Given the description of an element on the screen output the (x, y) to click on. 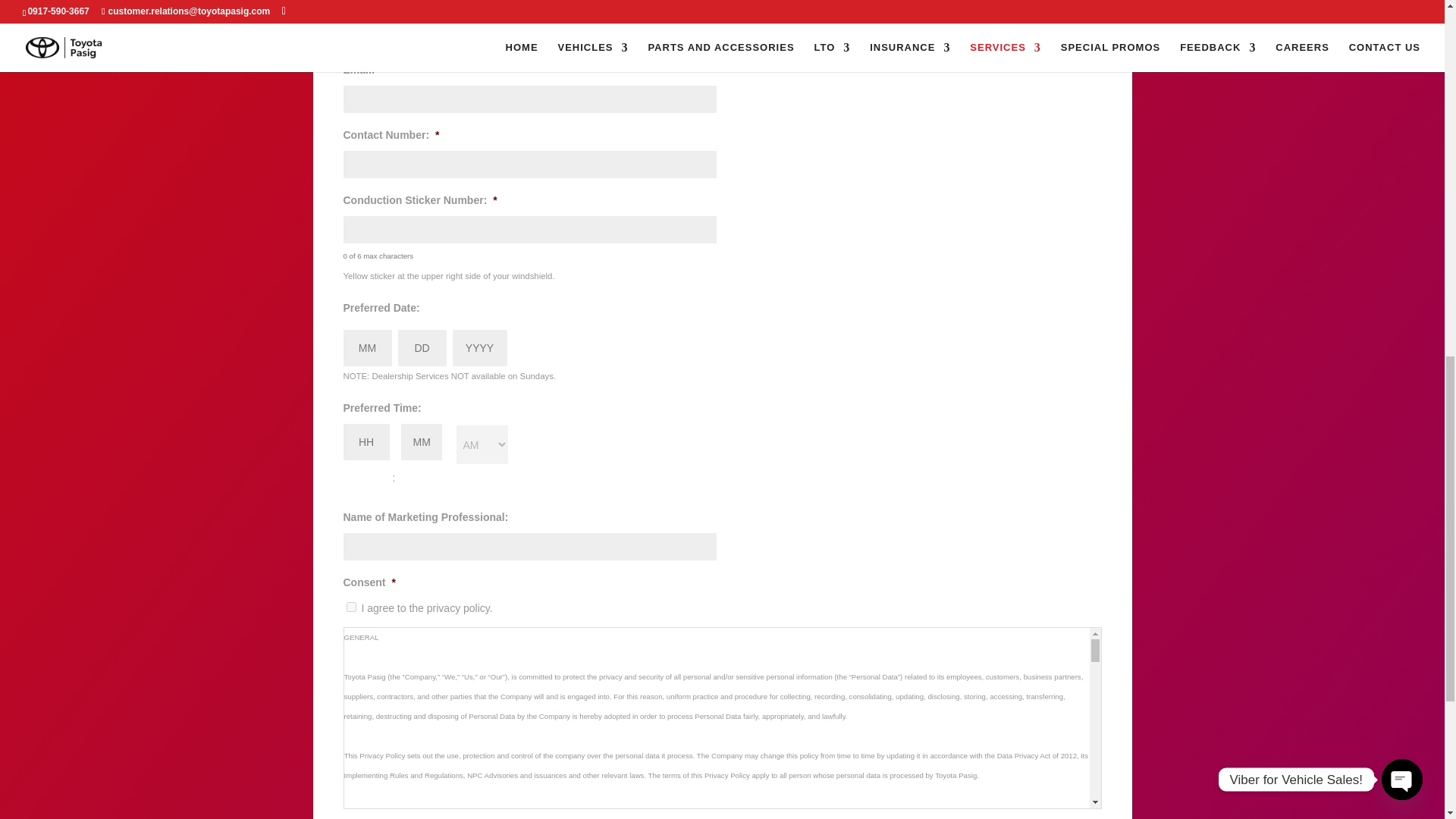
1 (350, 606)
